Given the description of an element on the screen output the (x, y) to click on. 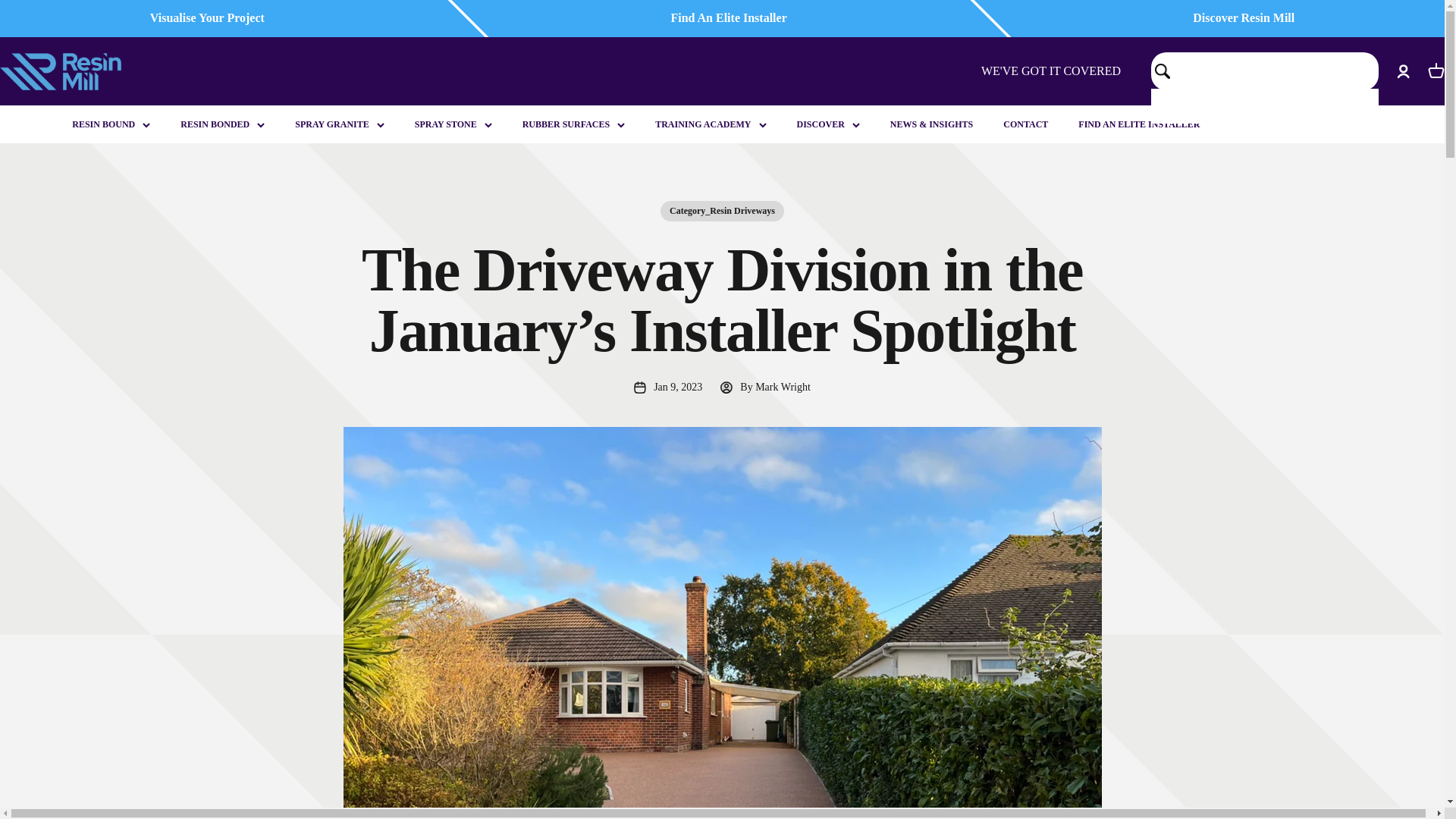
Find An Elite Installer (727, 17)
Discover Resin Mill (1436, 71)
Visualise Your Project (1243, 17)
Resin Mill (206, 17)
